Given the description of an element on the screen output the (x, y) to click on. 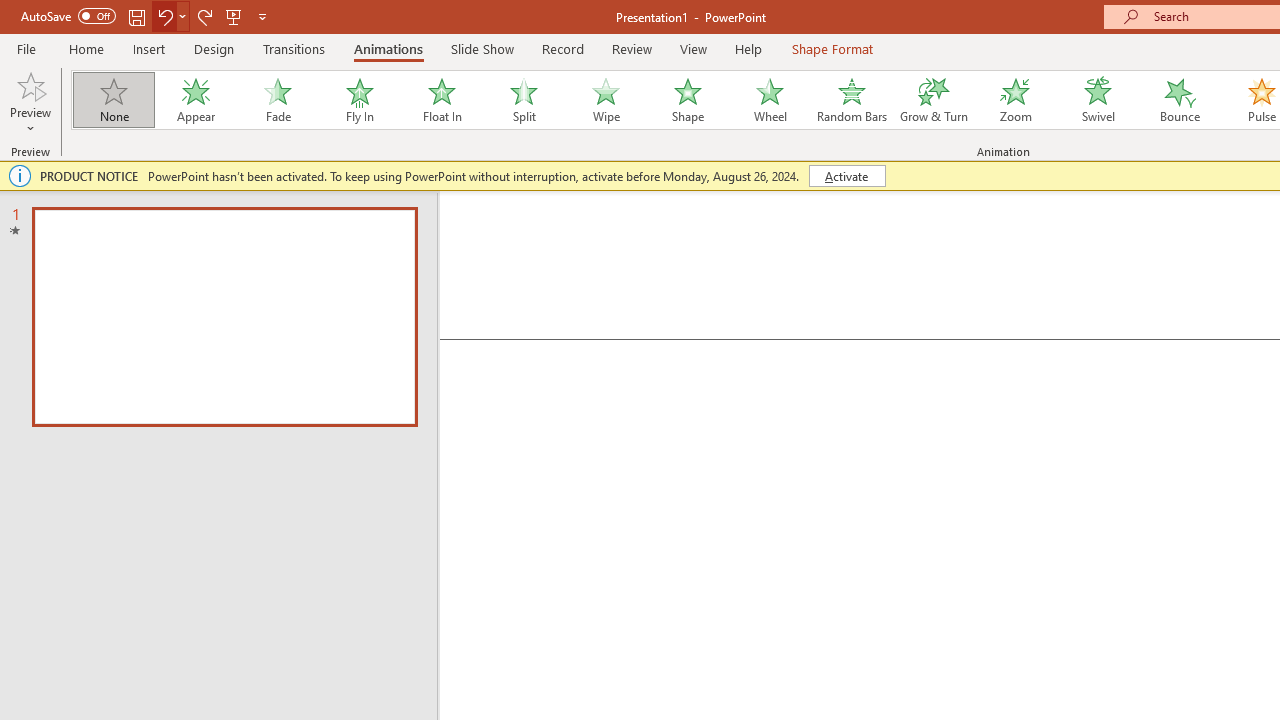
Random Bars (852, 100)
Appear (195, 100)
